Given the description of an element on the screen output the (x, y) to click on. 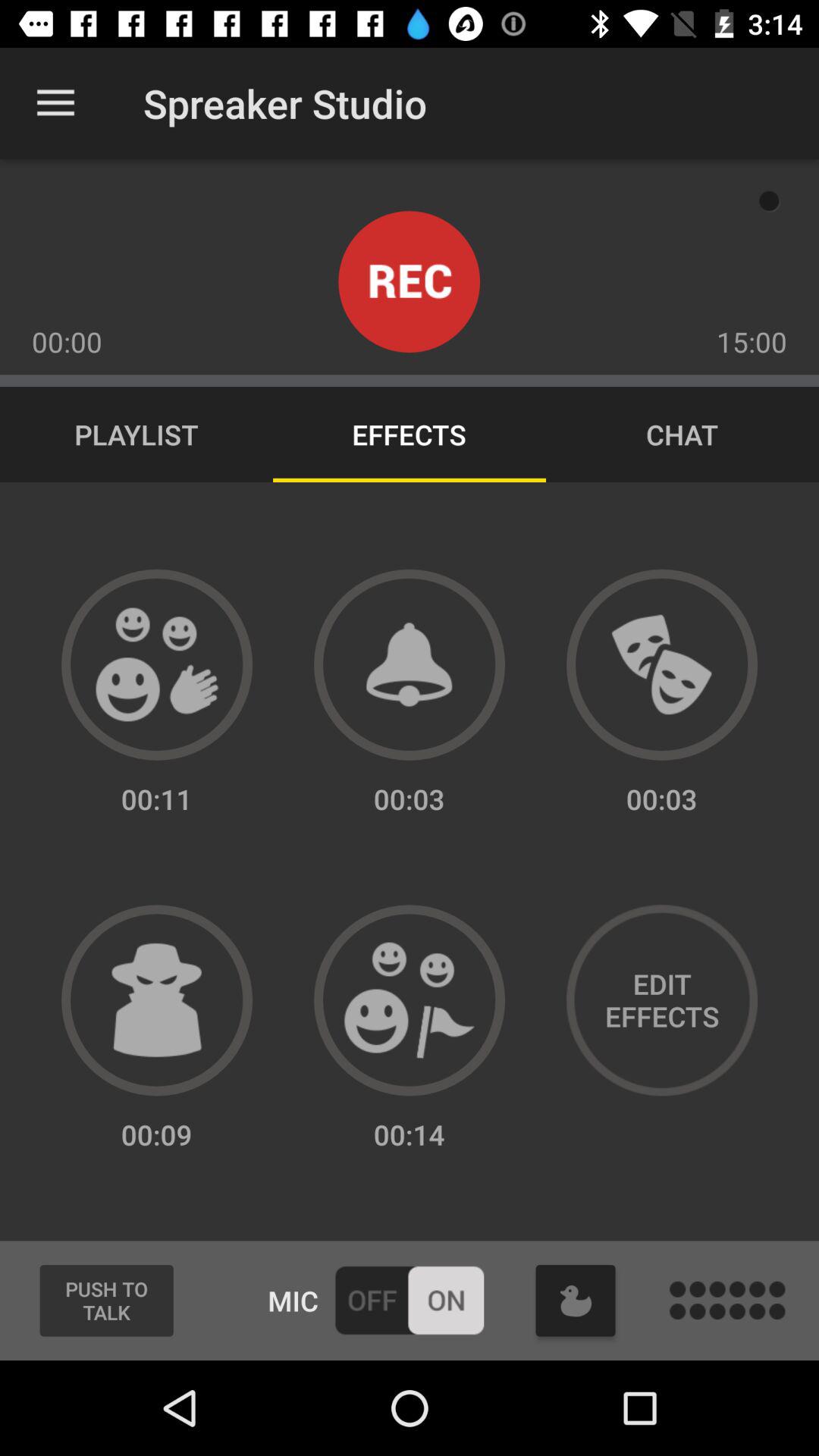
play sound effect (409, 664)
